Given the description of an element on the screen output the (x, y) to click on. 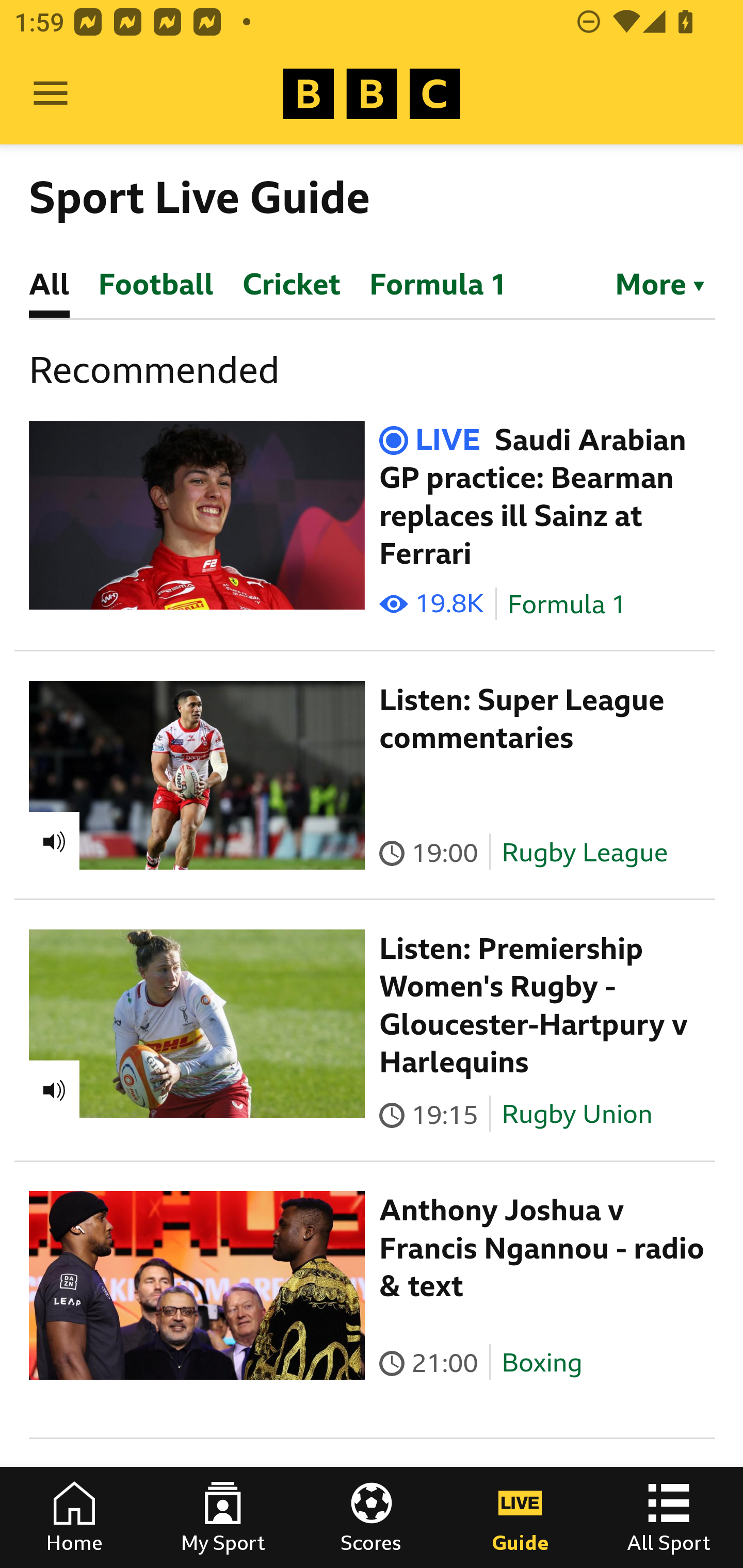
Open Menu (50, 93)
Formula 1 (566, 604)
Listen: Super League commentaries (522, 718)
Rugby League (584, 851)
Rugby Union (576, 1113)
Anthony Joshua v Francis Ngannou - radio & text (541, 1248)
Boxing (541, 1362)
Home (74, 1517)
My Sport (222, 1517)
Scores (371, 1517)
All Sport (668, 1517)
